Given the description of an element on the screen output the (x, y) to click on. 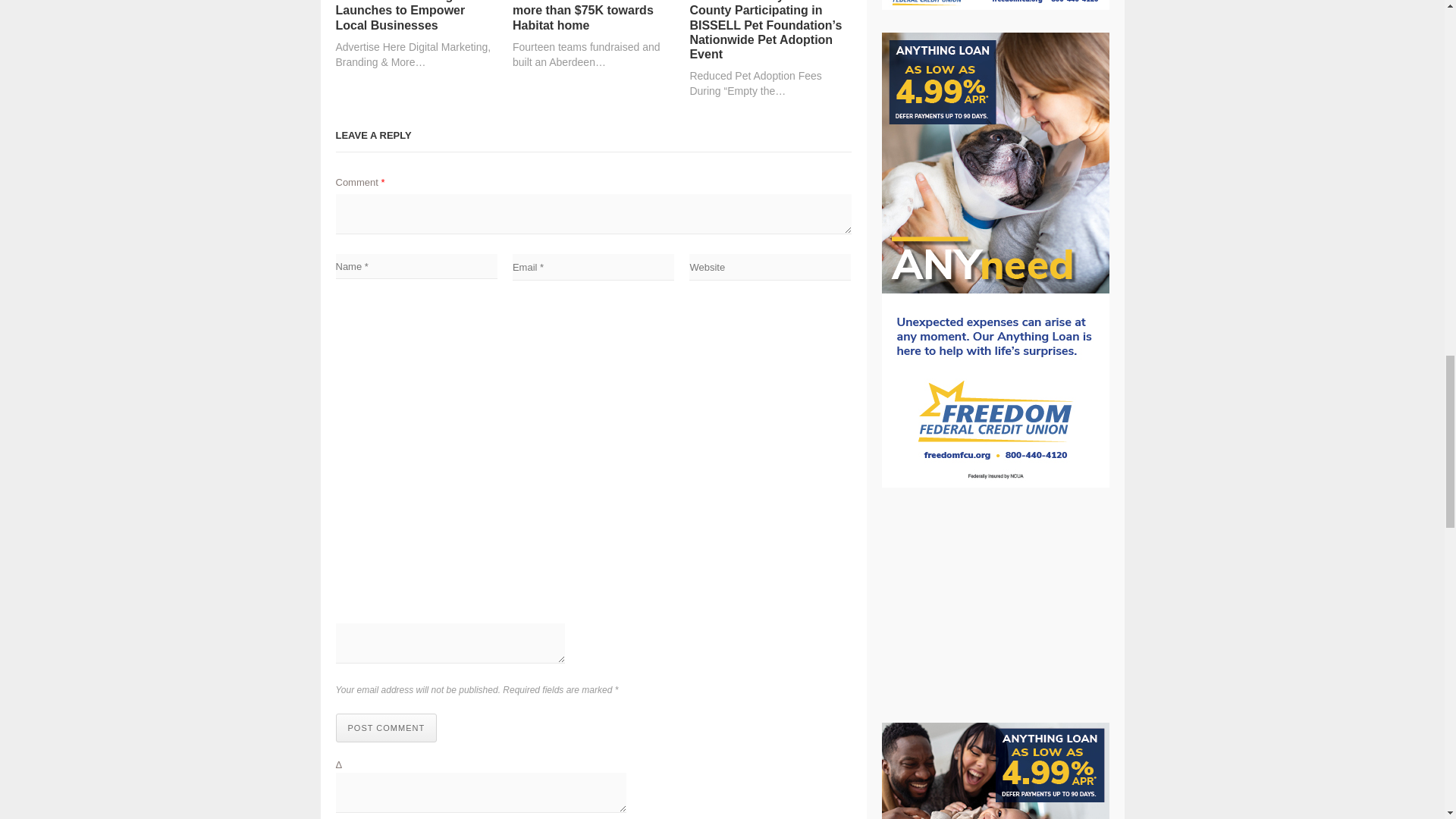
3rd party ad content (994, 605)
